Given the description of an element on the screen output the (x, y) to click on. 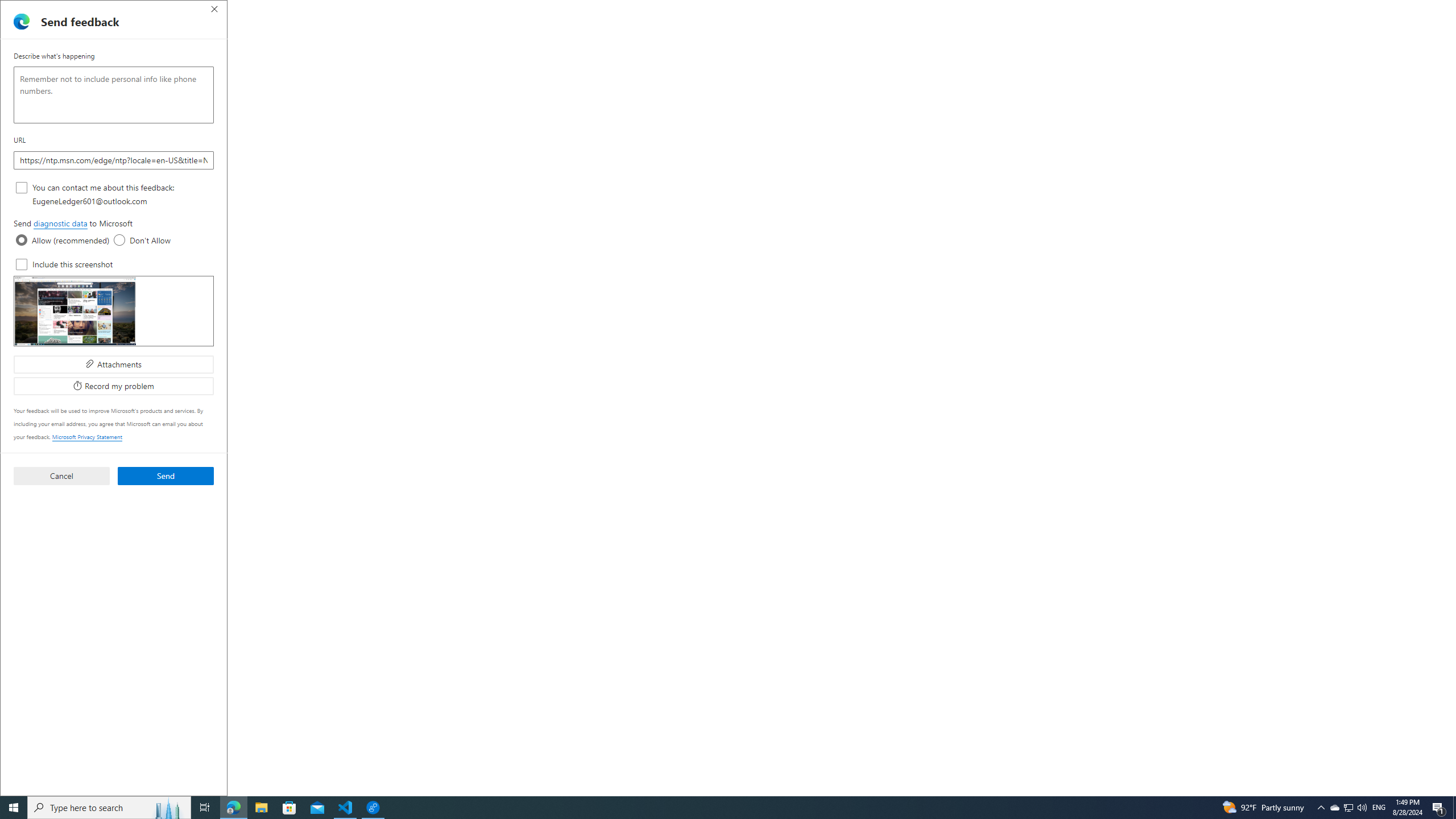
Reasons we share personal data (395, 409)
Privacy for young people (489, 290)
Restore (1416, 9)
X - Sleeping (527, 9)
Back (13, 29)
Nordace - Summer Adventures 2024 (610, 9)
Workspaces (34, 9)
New Tab (1346, 9)
Cookies and similar technologies (395, 449)
Consumer Health Data Privacy Policy (748, 54)
Expand All (1075, 96)
Nordace - #1 Japanese Best-Seller - Siena Smart Backpack (274, 9)
